Given the description of an element on the screen output the (x, y) to click on. 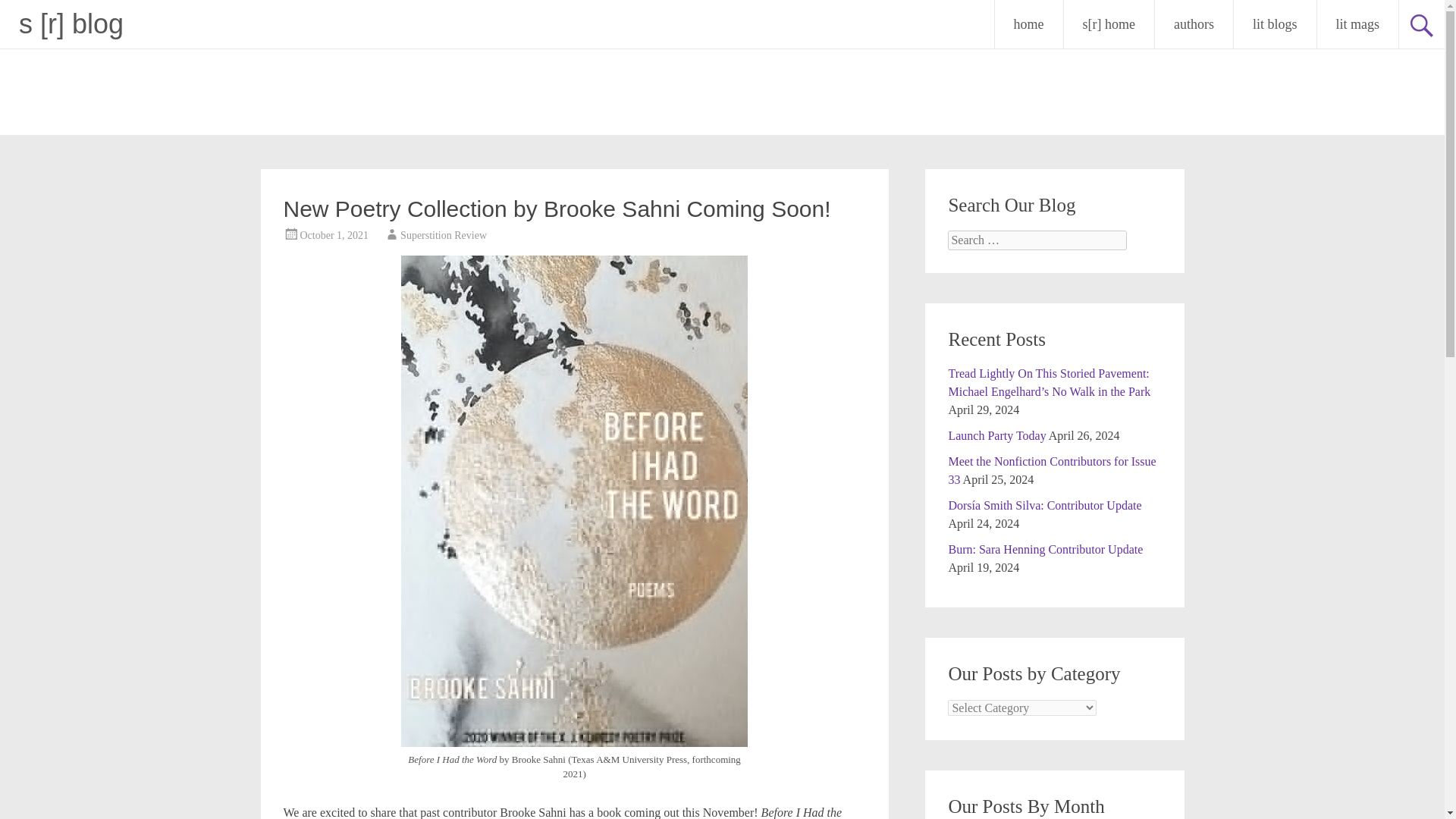
Superstition Review (443, 235)
lit mags (1356, 24)
authors (1193, 24)
lit blogs (1274, 24)
home (1028, 24)
October 1, 2021 (334, 235)
